Given the description of an element on the screen output the (x, y) to click on. 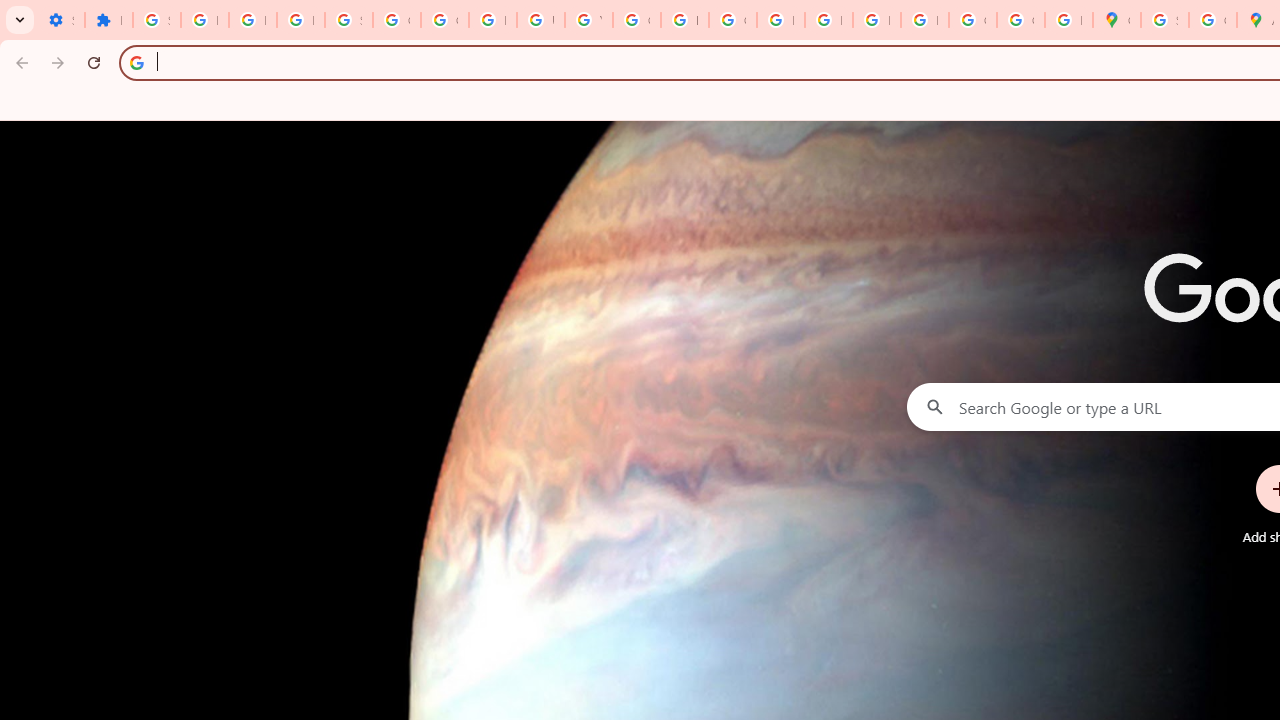
https://scholar.google.com/ (684, 20)
Google Account Help (396, 20)
Sign in - Google Accounts (1164, 20)
Google Account Help (444, 20)
YouTube (588, 20)
Privacy Help Center - Policies Help (780, 20)
